Given the description of an element on the screen output the (x, y) to click on. 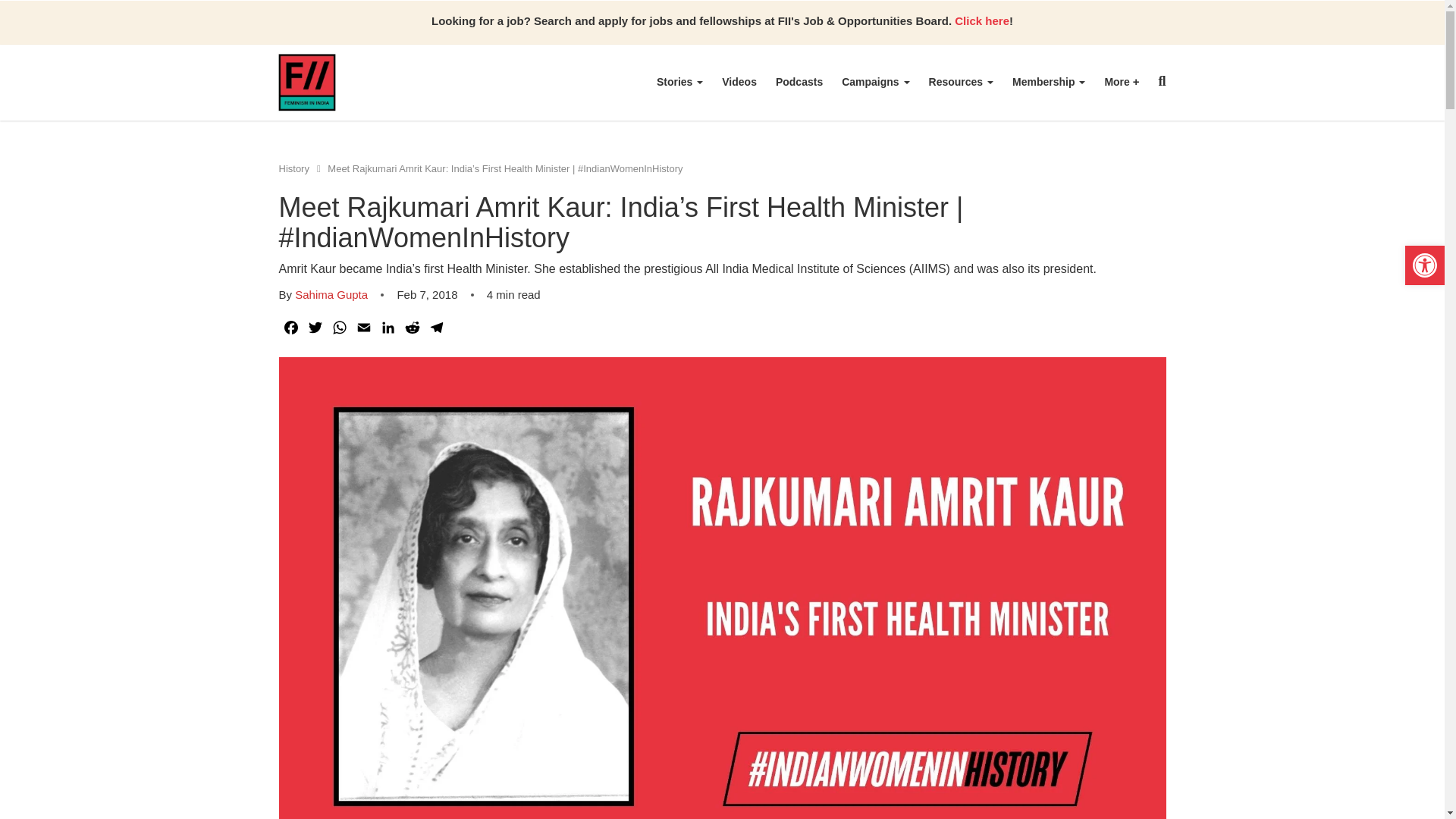
Accessibility Tools (1424, 265)
